Given the description of an element on the screen output the (x, y) to click on. 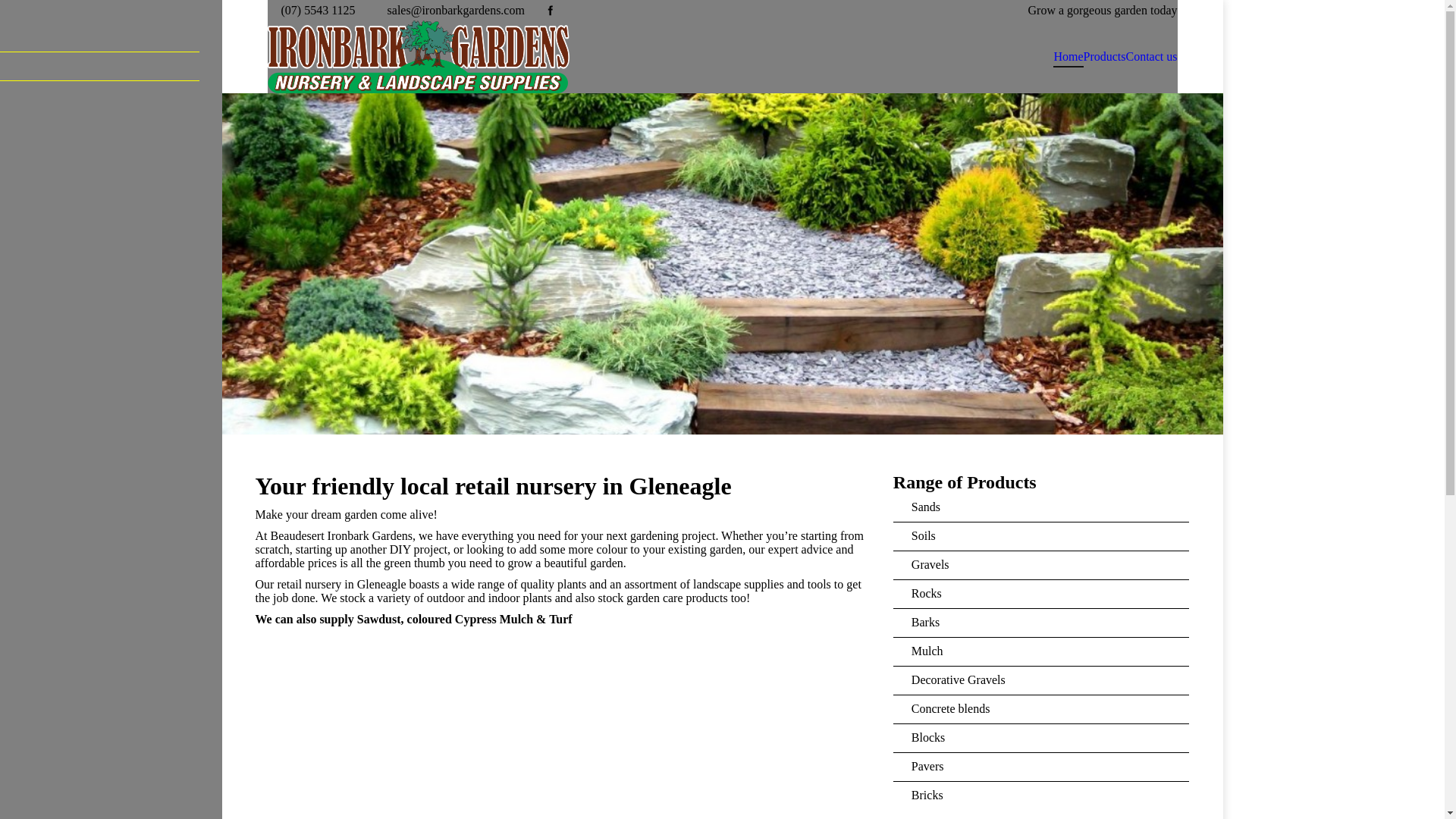
Products Element type: text (1103, 56)
Contact us Element type: text (1150, 56)
Facebook Element type: hover (550, 10)
Home Element type: text (1067, 56)
